Given the description of an element on the screen output the (x, y) to click on. 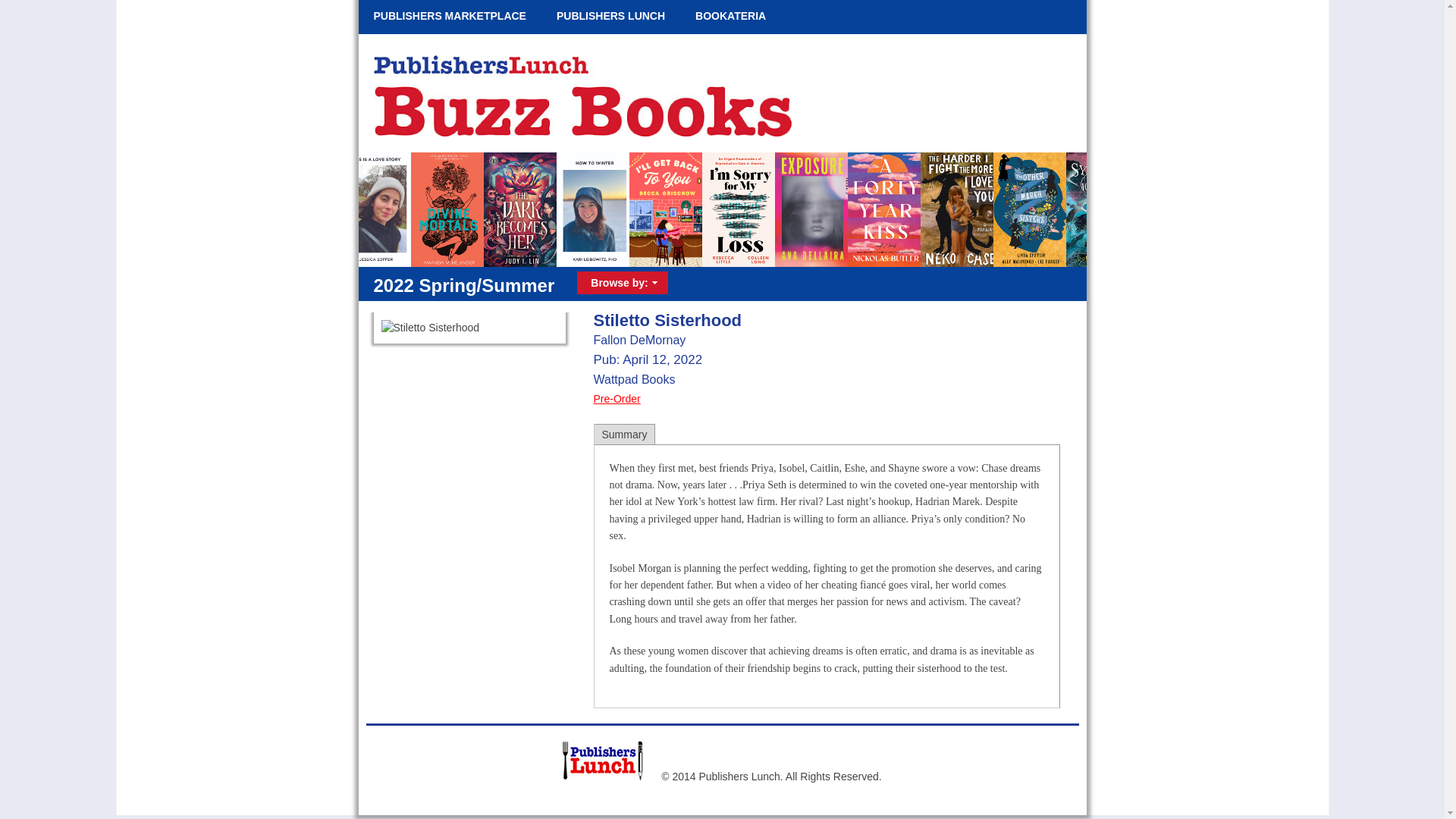
BOOKATERIA (729, 16)
PUBLISHERS LUNCH (610, 16)
PUBLISHERS MARKETPLACE (449, 16)
Buzz Books (577, 132)
